Given the description of an element on the screen output the (x, y) to click on. 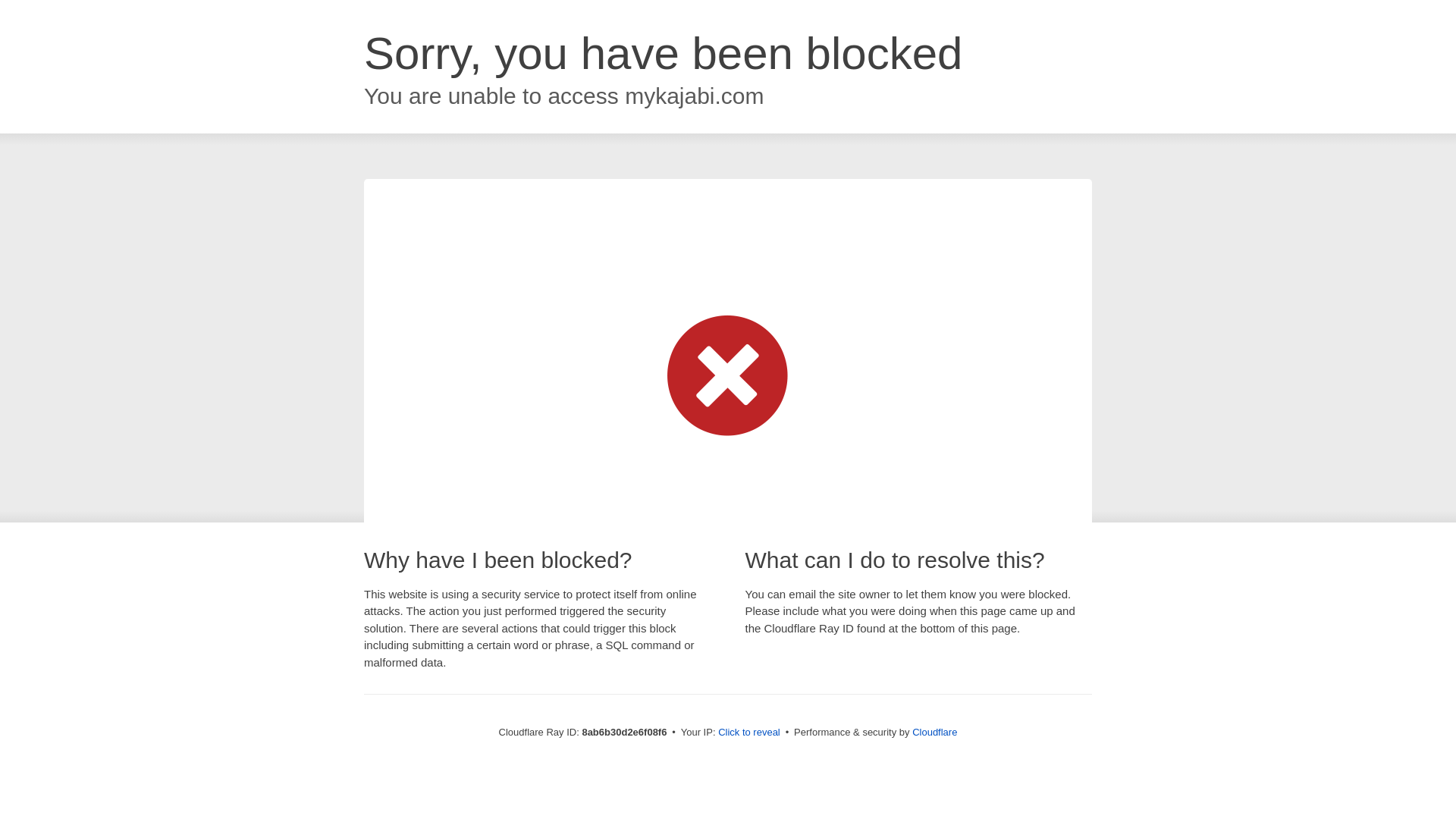
Cloudflare (934, 731)
Click to reveal (748, 732)
